Given the description of an element on the screen output the (x, y) to click on. 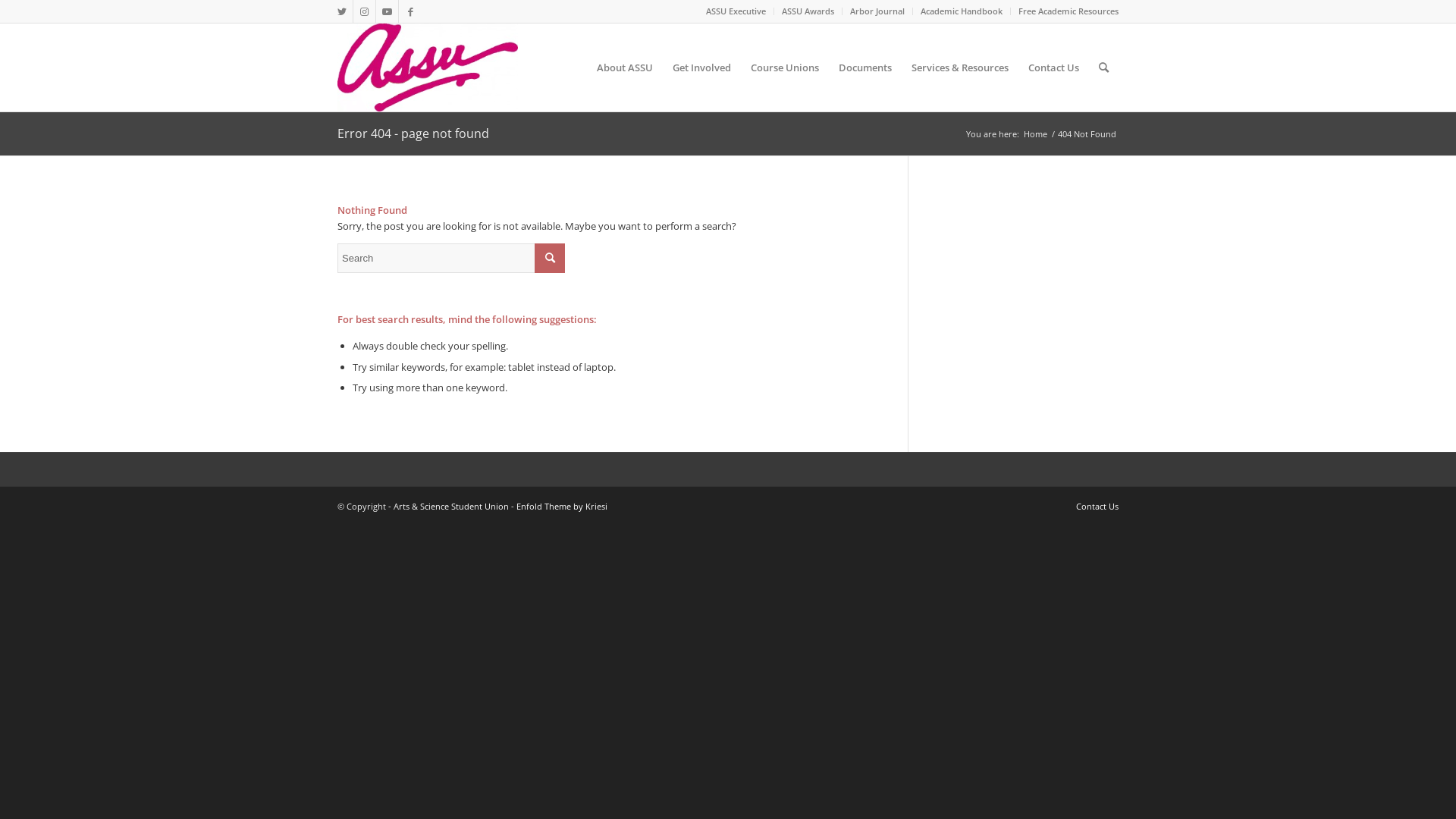
Enfold Theme by Kriesi Element type: text (561, 505)
Academic Handbook Element type: text (961, 10)
Home Element type: text (1035, 133)
Youtube Element type: hover (387, 11)
ASSU Awards Element type: text (807, 10)
Twitter Element type: hover (341, 11)
Facebook Element type: hover (409, 11)
About ASSU Element type: text (624, 67)
Get Involved Element type: text (701, 67)
Documents Element type: text (864, 67)
ASSU Executive Element type: text (735, 10)
Instagram Element type: hover (364, 11)
Arbor Journal Element type: text (877, 10)
Contact Us Element type: text (1053, 67)
Contact Us Element type: text (1097, 505)
Course Unions Element type: text (784, 67)
Arts & Science Student Union Element type: text (450, 505)
Services & Resources Element type: text (959, 67)
Free Academic Resources Element type: text (1068, 10)
